Given the description of an element on the screen output the (x, y) to click on. 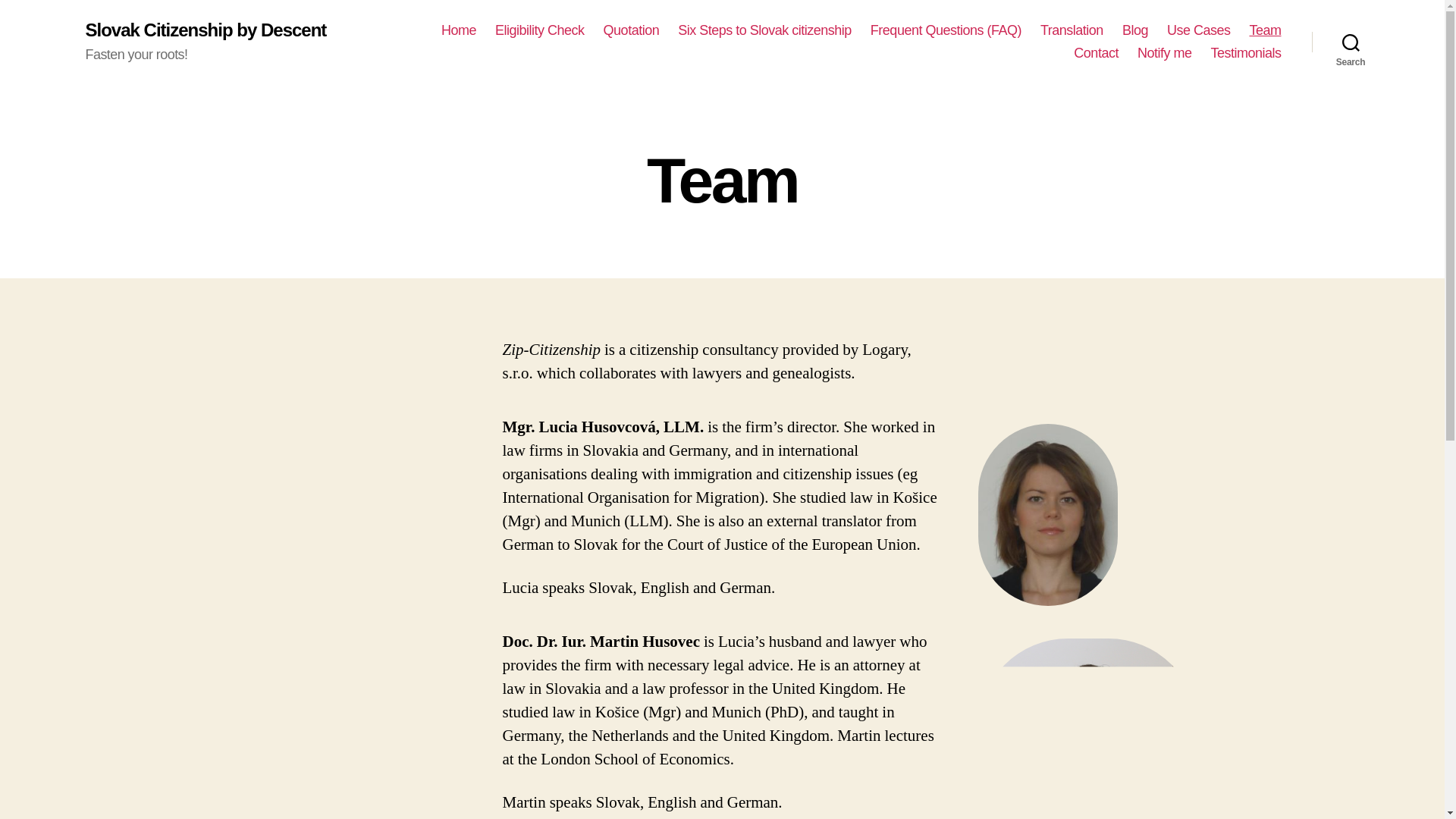
Contact (1096, 53)
Eligibility Check (540, 30)
Notify me (1164, 53)
Use Cases (1198, 30)
Testimonials (1245, 53)
Quotation (631, 30)
Slovak Citizenship by Descent (205, 30)
Translation (1072, 30)
Home (458, 30)
Six Steps to Slovak citizenship (764, 30)
Team (1265, 30)
Search (1350, 41)
Blog (1135, 30)
